Given the description of an element on the screen output the (x, y) to click on. 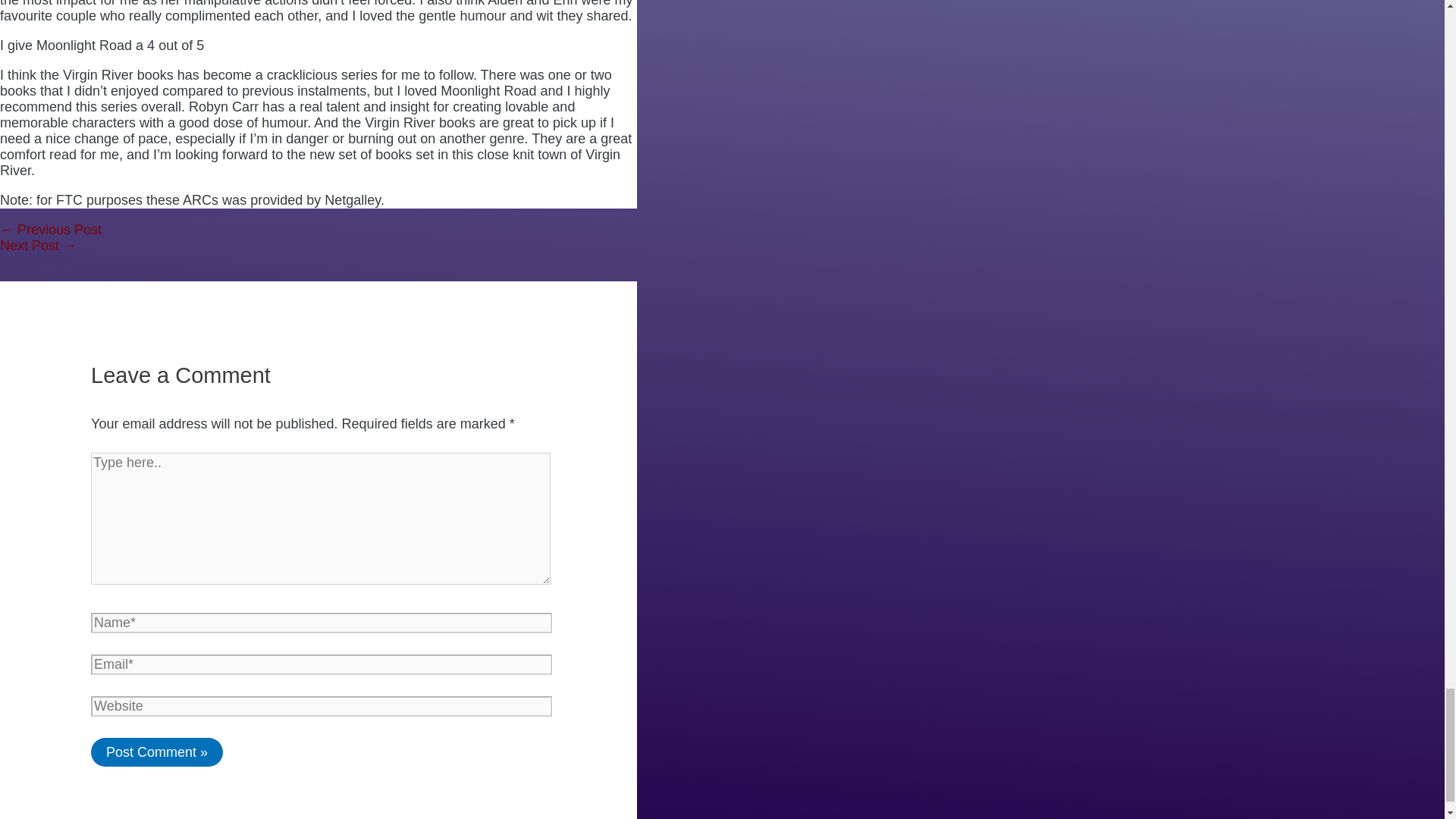
Books and Moods... (50, 229)
GIVEAWAY: Dark Life by Kat Falls (38, 245)
